Given the description of an element on the screen output the (x, y) to click on. 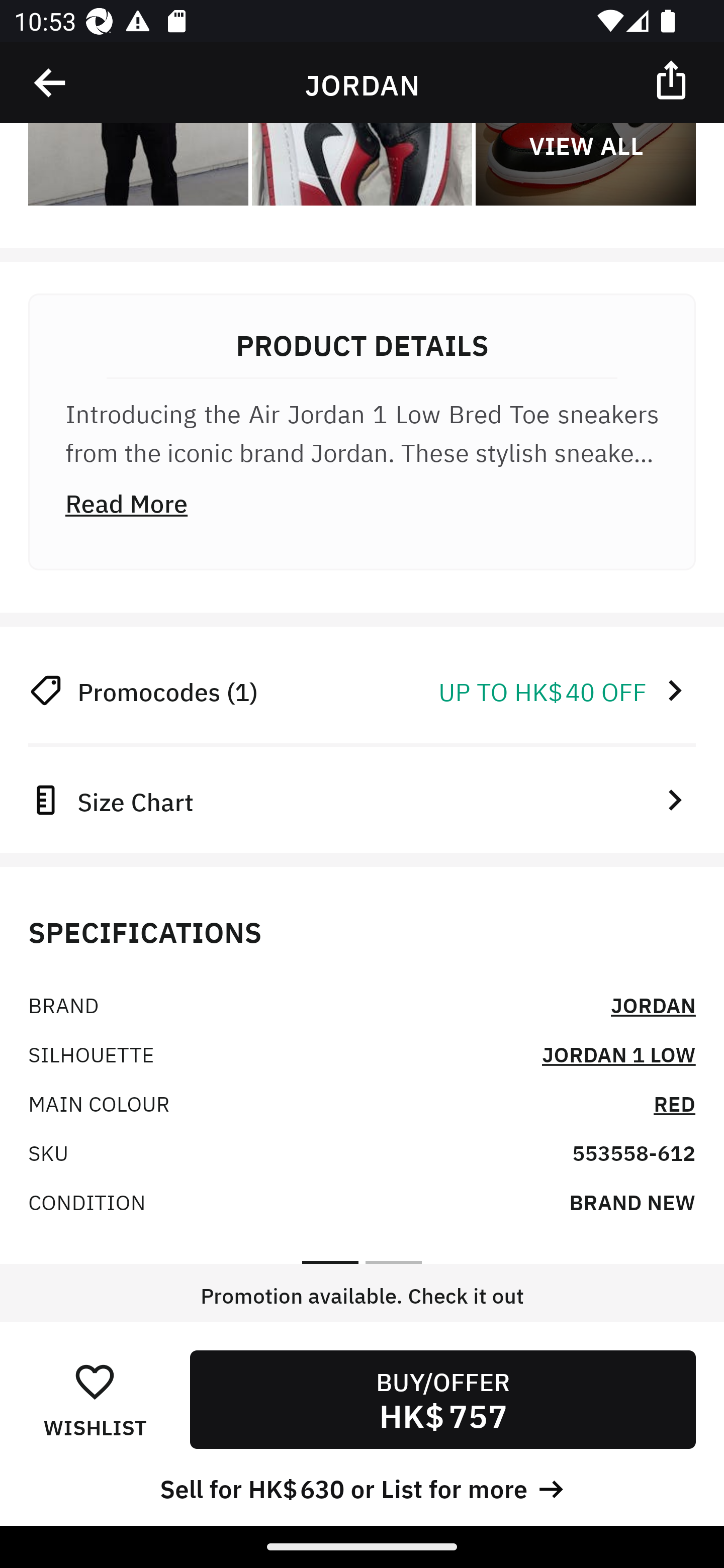
 (50, 83)
 (672, 79)
Promocodes (1) UP TO HK$ 40 OFF  (361, 690)
Size Chart  (361, 799)
JORDAN (653, 1004)
JORDAN 1 LOW (618, 1053)
RED (674, 1102)
553558-612 (633, 1151)
BRAND NEW (632, 1200)
BUY/OFFER HK$ 757 (442, 1399)
󰋕 (94, 1380)
Sell for HK$ 630 or List for more (361, 1486)
